Given the description of an element on the screen output the (x, y) to click on. 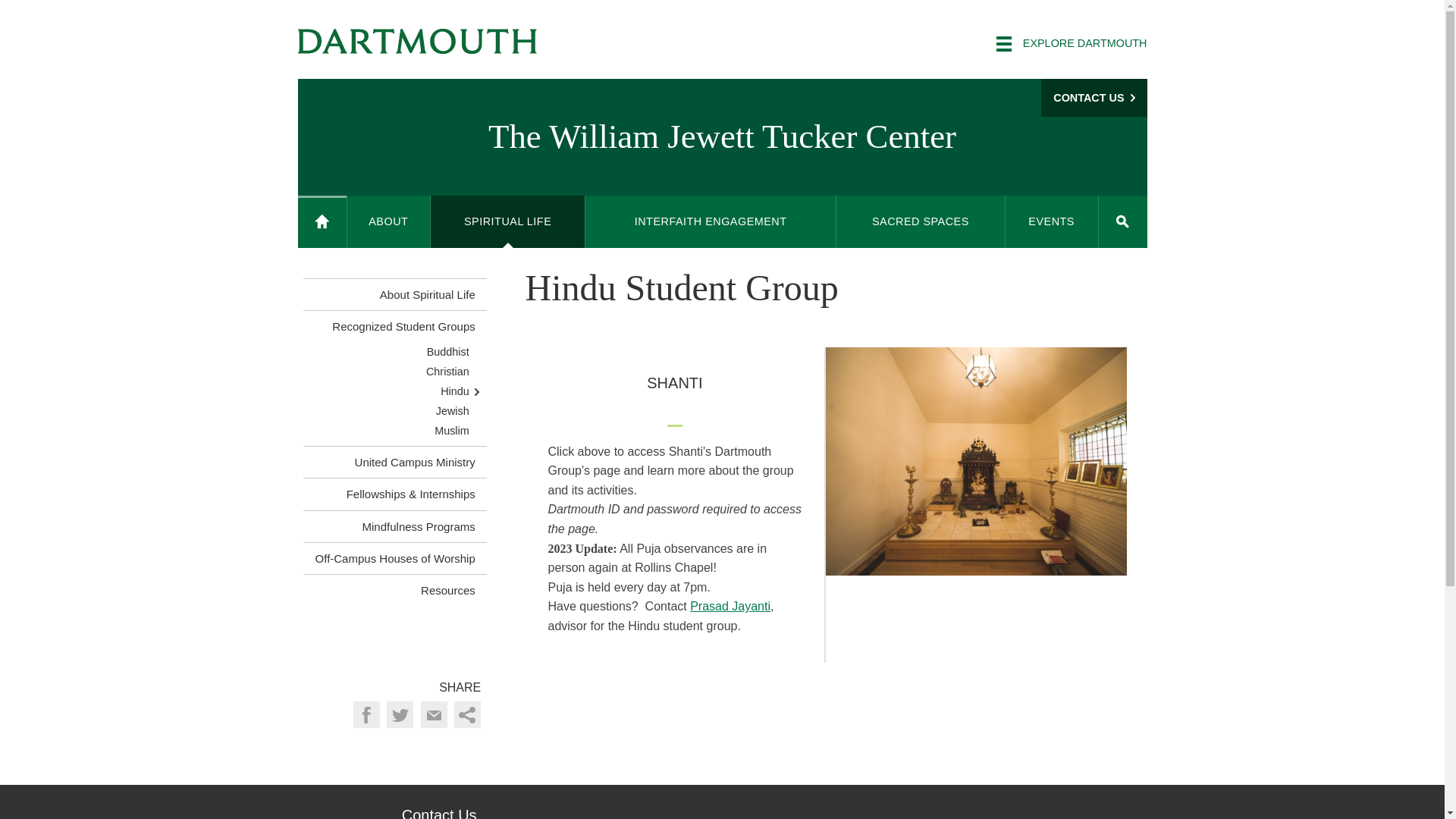
EXPLORE DARTMOUTH (1071, 43)
Dartmouth College (417, 41)
Home (321, 221)
Hindu Temple in Rollins Chapel (975, 461)
